Given the description of an element on the screen output the (x, y) to click on. 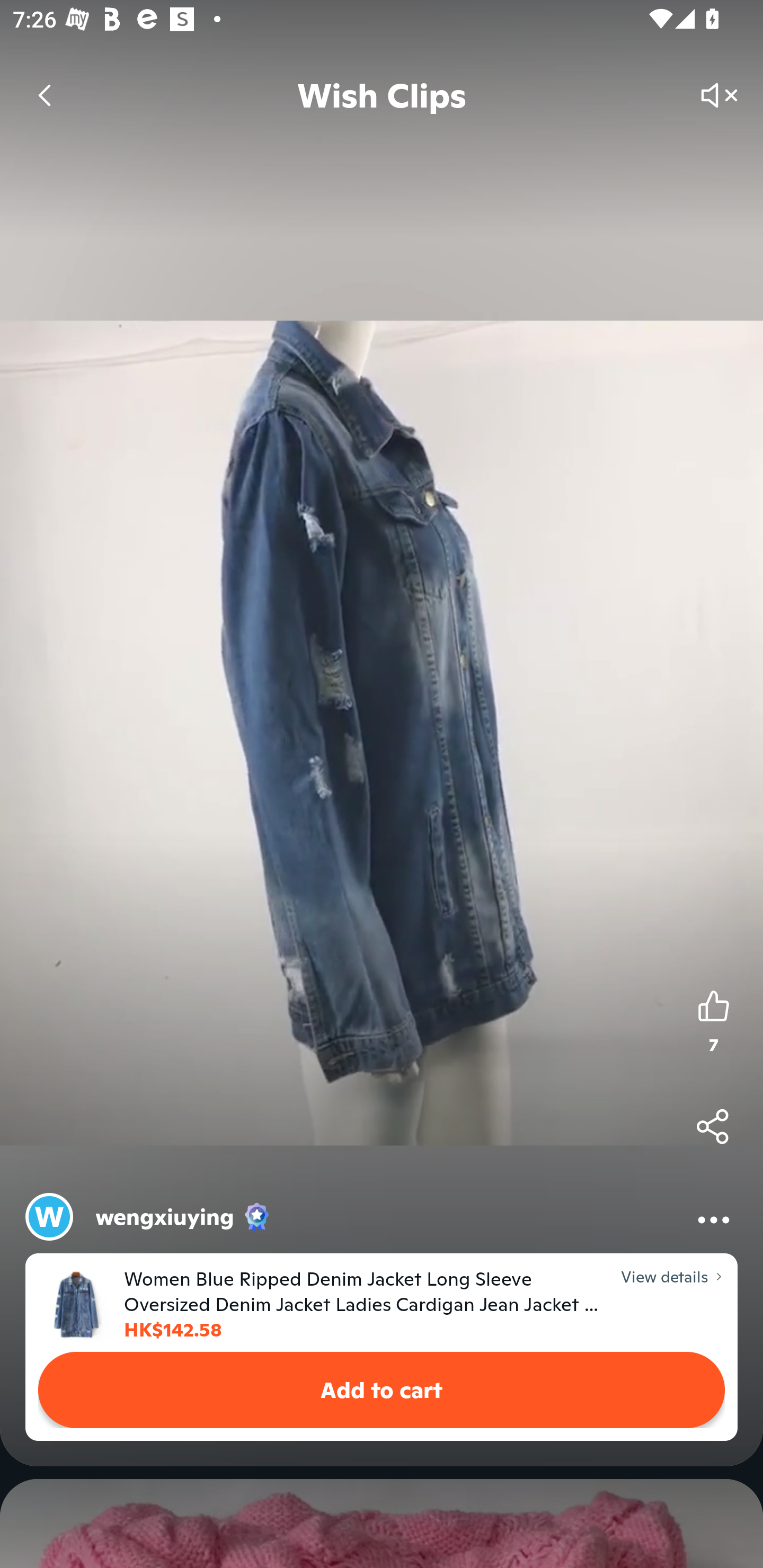
W (49, 1216)
wengxiuying (165, 1216)
Add to cart (381, 1389)
